Given the description of an element on the screen output the (x, y) to click on. 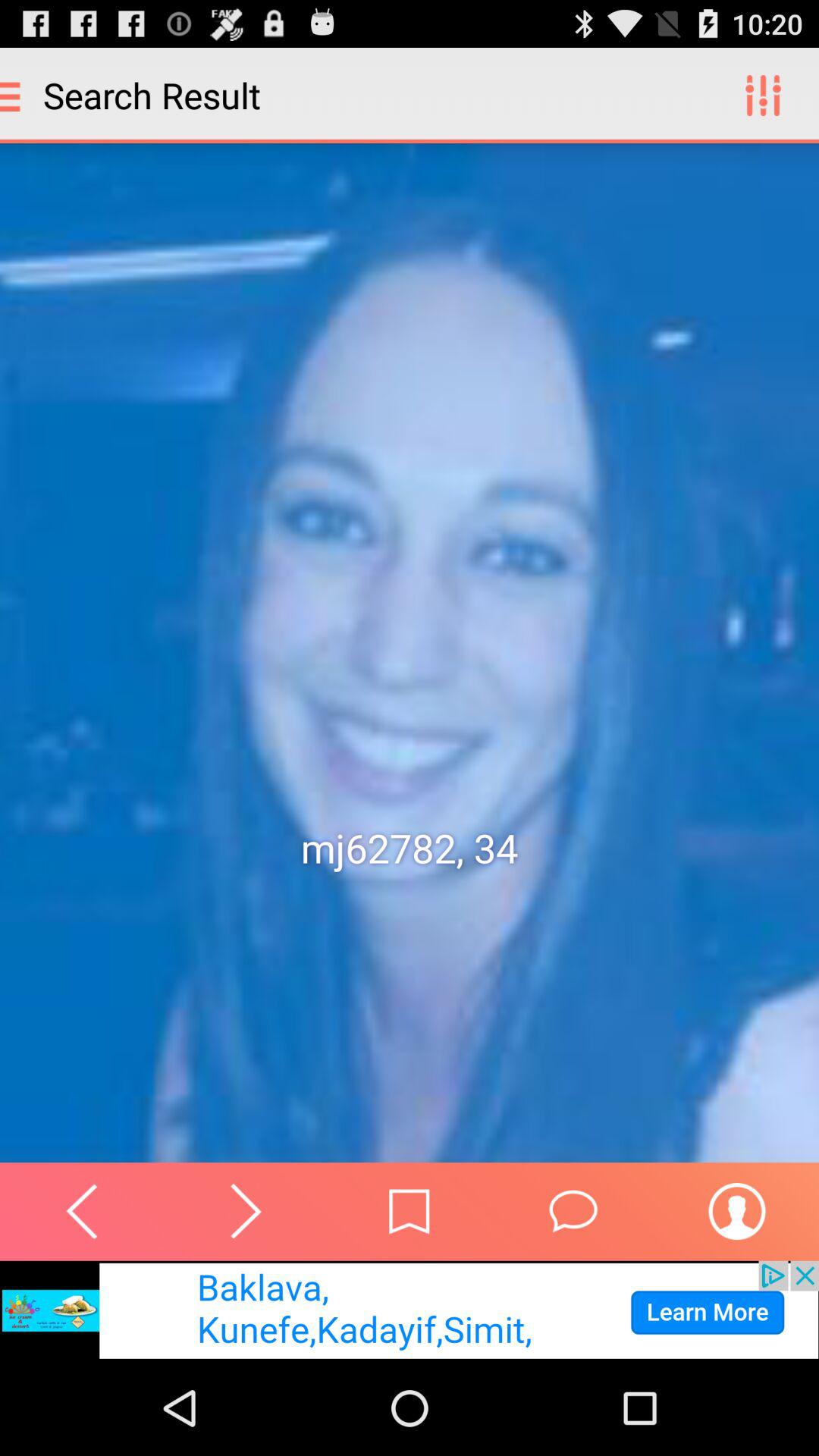
go to back (81, 1211)
